Given the description of an element on the screen output the (x, y) to click on. 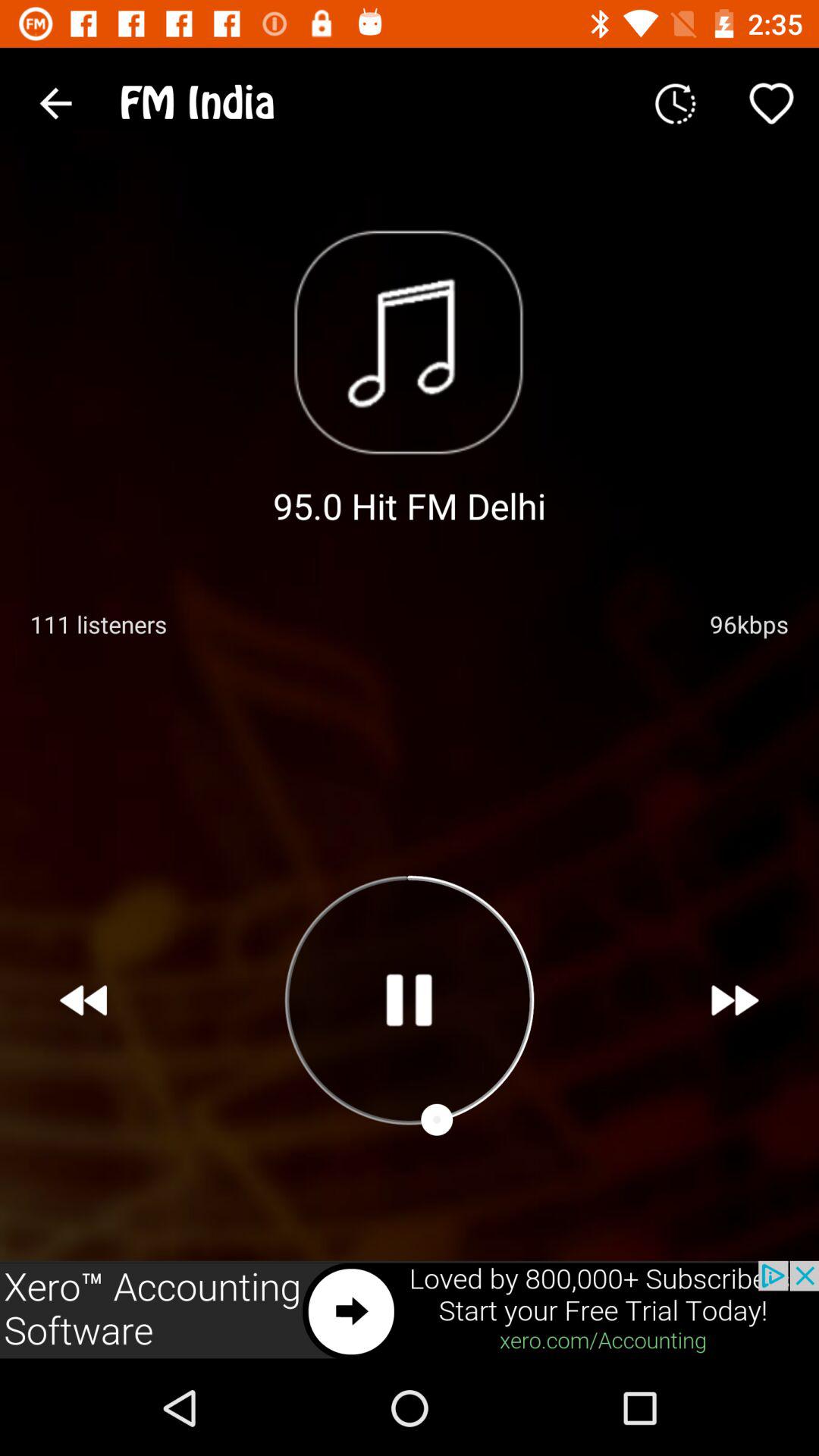
go to previous (83, 1000)
